Given the description of an element on the screen output the (x, y) to click on. 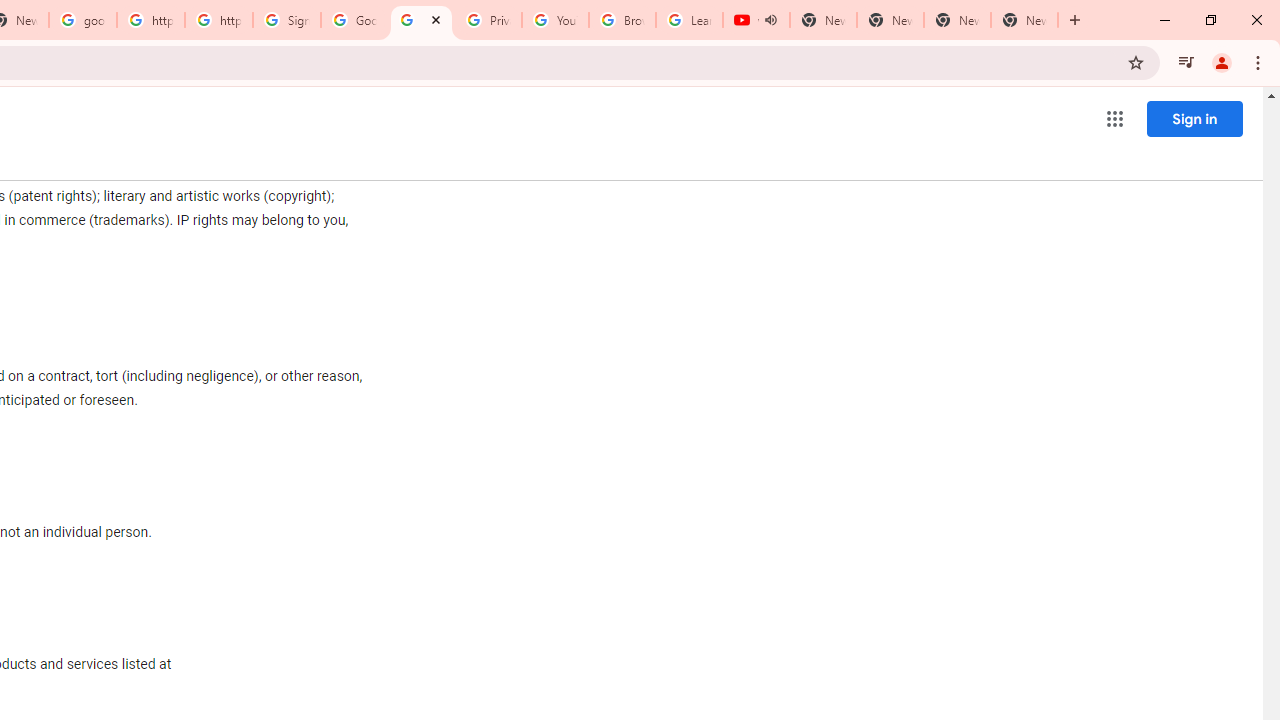
YouTube (555, 20)
https://scholar.google.com/ (150, 20)
New Tab (1024, 20)
